Given the description of an element on the screen output the (x, y) to click on. 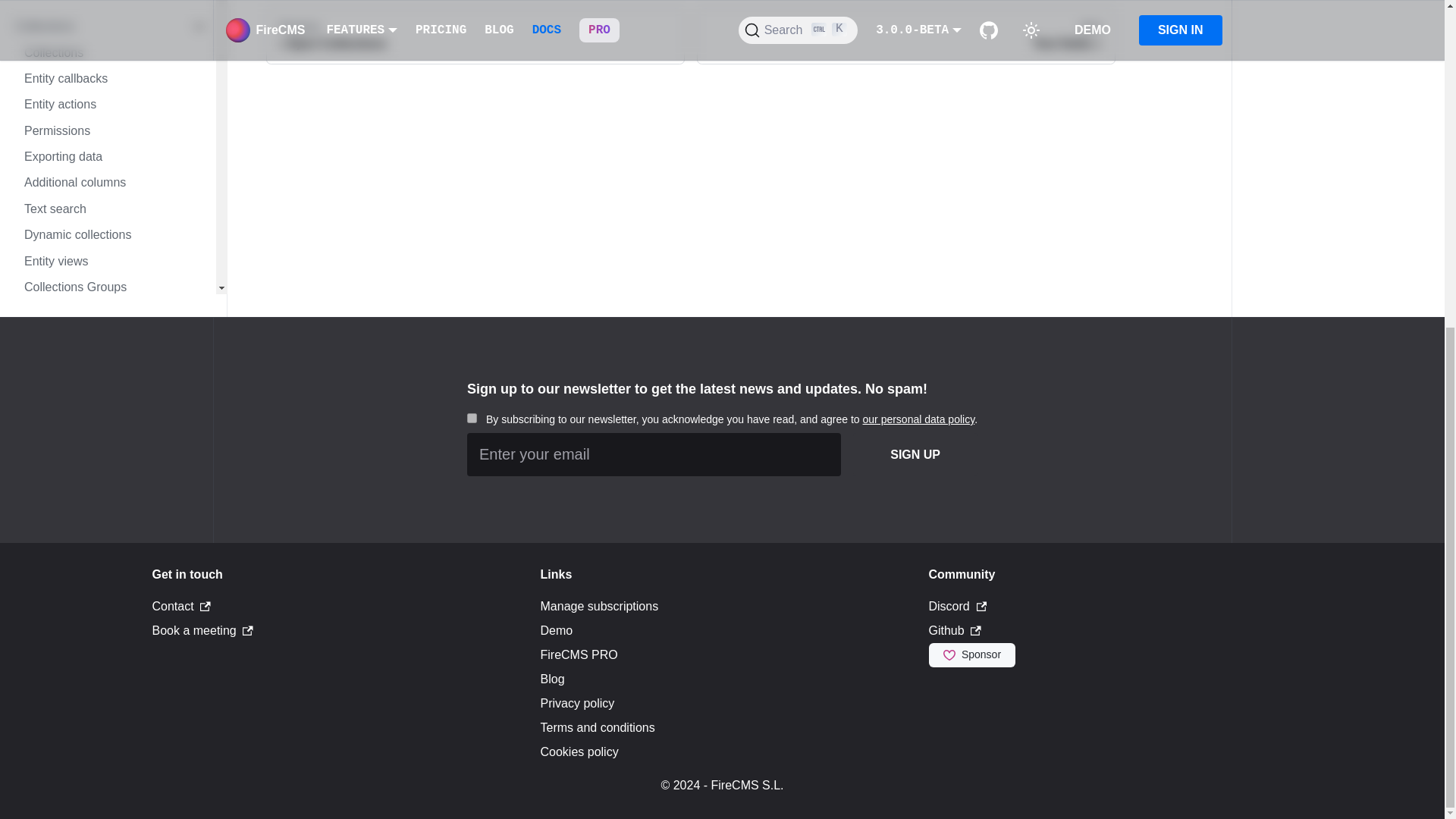
policy-read (472, 418)
Sponsor FireCMS (971, 654)
Collections (110, 26)
Firebase setup (114, 2)
